Given the description of an element on the screen output the (x, y) to click on. 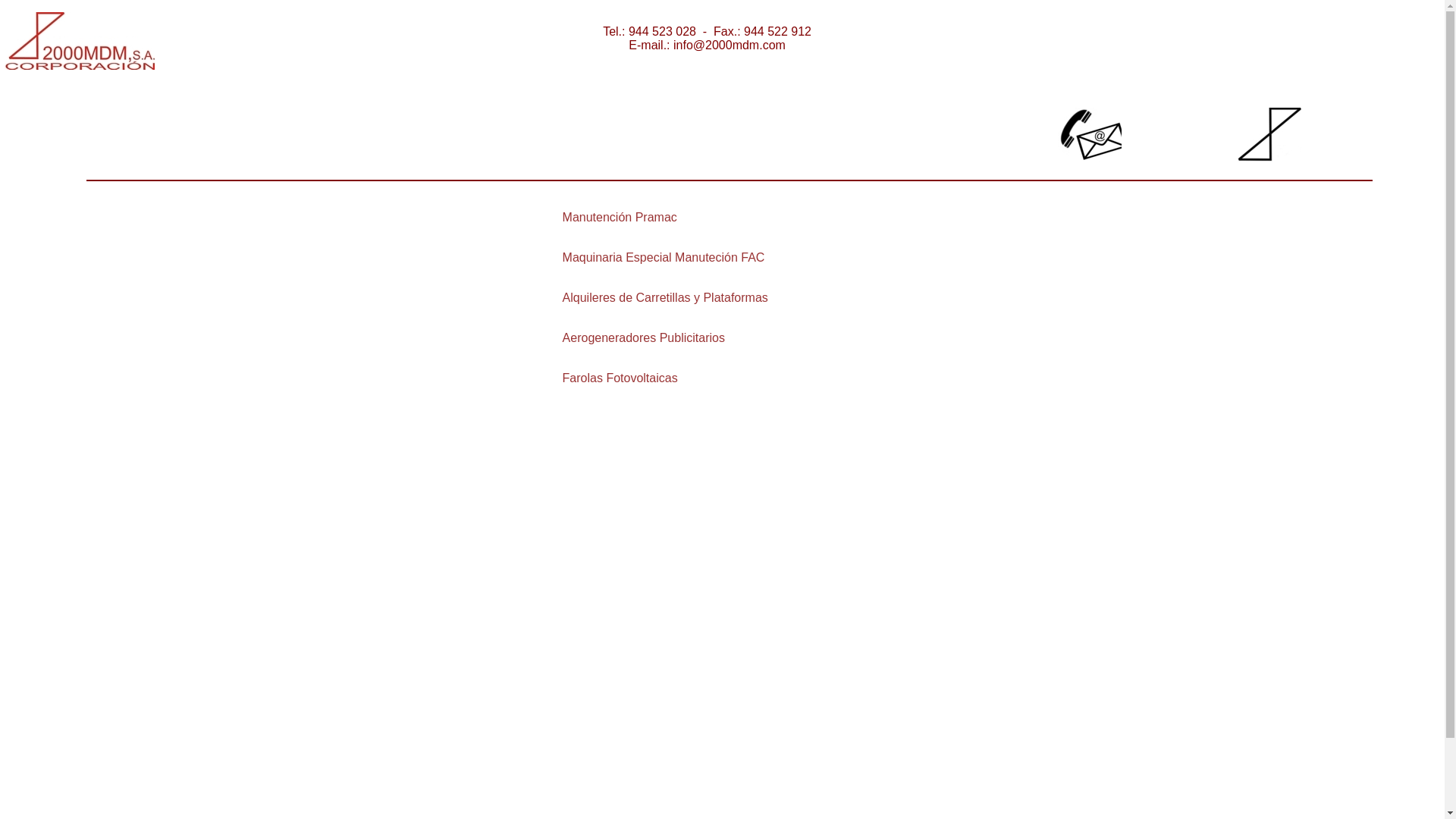
Farolas Fotovoltaicas Element type: text (619, 377)
Aerogeneradores Publicitarios Element type: text (643, 336)
Alquileres de Carretillas y Plataformas Element type: text (665, 297)
